Given the description of an element on the screen output the (x, y) to click on. 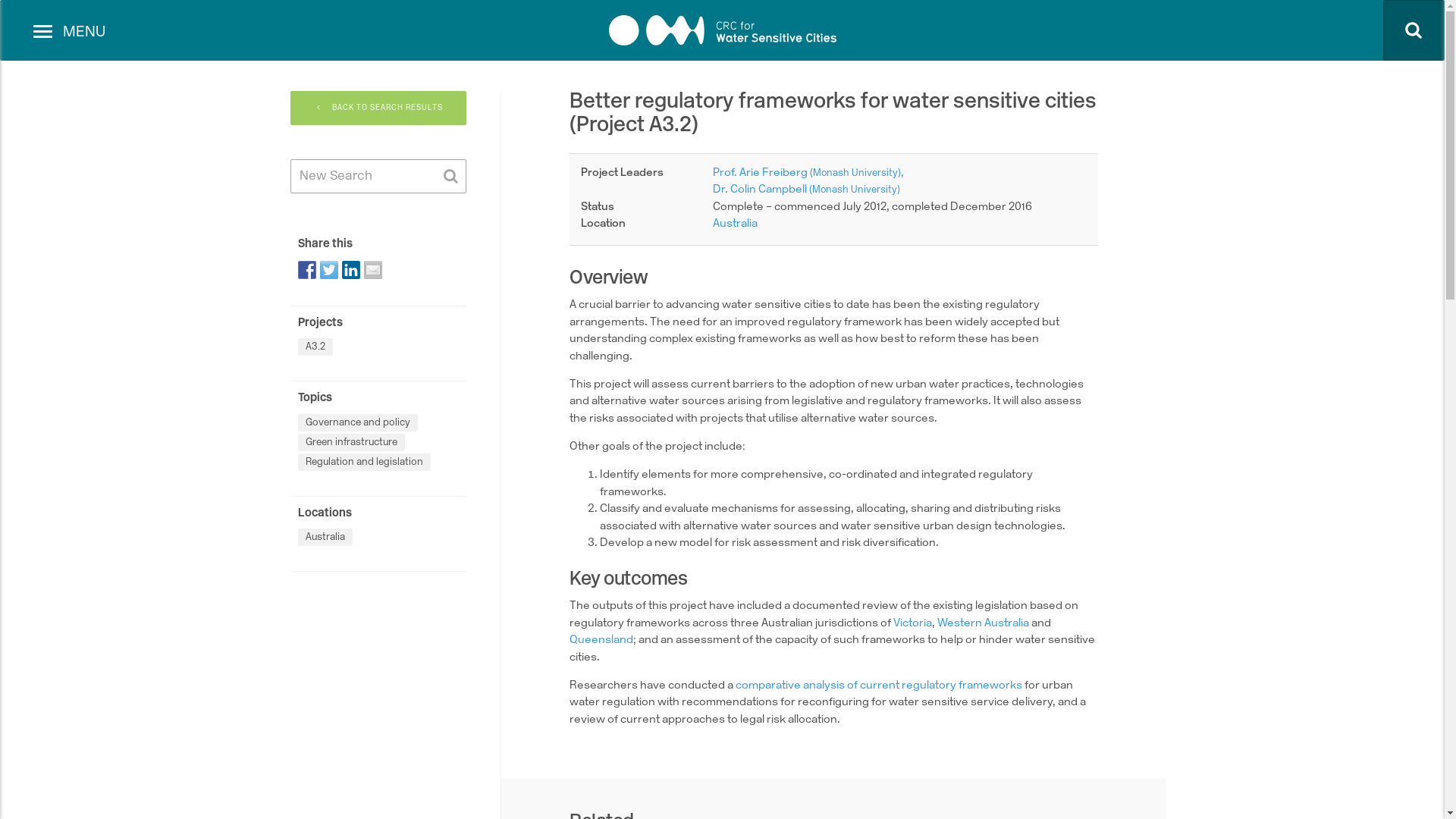
Queensland Element type: text (601, 640)
Victoria Element type: text (912, 623)
Share on Facebook Element type: hover (306, 269)
Green infrastructure Element type: text (350, 442)
A3.2 Element type: text (314, 346)
CRC for Water sensitive cities Element type: text (721, 30)
Prof. Arie Freiberg (Monash University) Element type: text (807, 172)
comparative analysis of current regulatory frameworks Element type: text (878, 685)
Australia Element type: text (734, 223)
Western Australia Element type: text (983, 623)
Dr. Colin Campbell (Monash University) Element type: text (806, 189)
Share on Linkedin Element type: hover (350, 269)
Governance and policy Element type: text (357, 422)
Share on Twitter Element type: hover (329, 269)
Share by email Element type: hover (373, 269)
Regulation and legislation Element type: text (363, 461)
Australia Element type: text (324, 537)
BACK TO SEARCH RESULTS Element type: text (377, 108)
Toggle navigation
MENU Element type: text (68, 42)
